Given the description of an element on the screen output the (x, y) to click on. 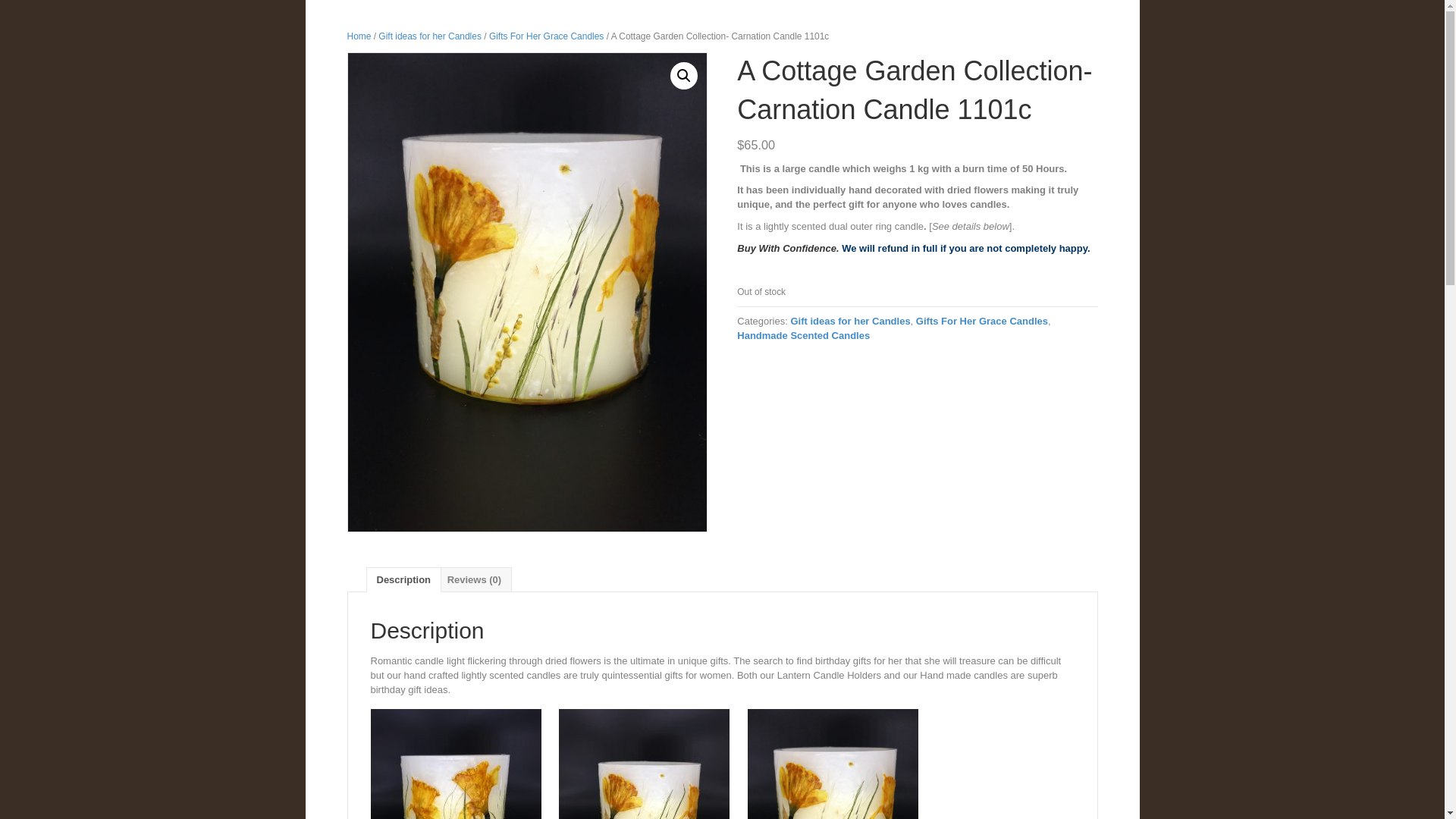
Gifts For Her Grace Candles Element type: text (982, 320)
Gift ideas for her Candles Element type: text (850, 320)
Gift ideas for her Candles Element type: text (429, 36)
Gifts For Her Grace Candles Element type: text (546, 36)
Home Element type: text (359, 36)
IMG-9686 Element type: hover (527, 292)
Handmade Scented Candles Element type: text (803, 335)
Reviews (0) Element type: text (474, 579)
Description Element type: text (403, 579)
